Given the description of an element on the screen output the (x, y) to click on. 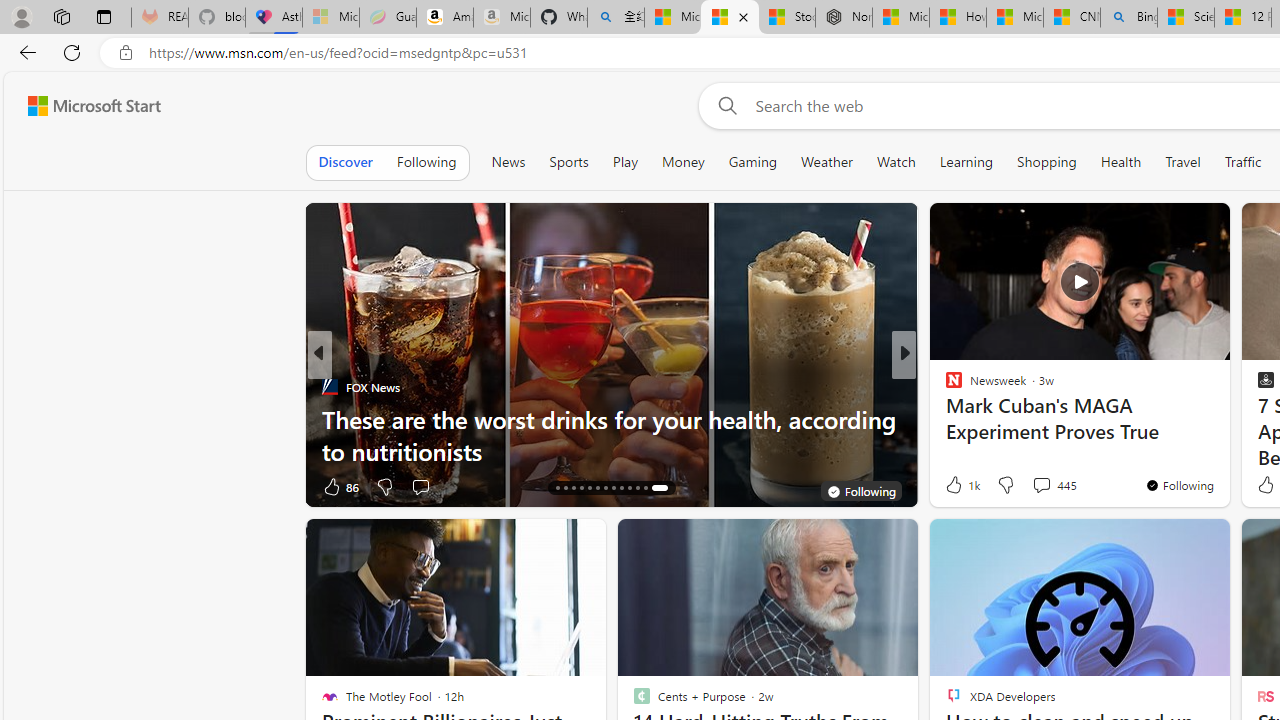
View comments 445 Comment (1053, 484)
AutomationID: tab-17 (581, 487)
AutomationID: tab-14 (556, 487)
Shopping (1047, 161)
AutomationID: tab-23 (628, 487)
AutomationID: tab-25 (645, 487)
